Given the description of an element on the screen output the (x, y) to click on. 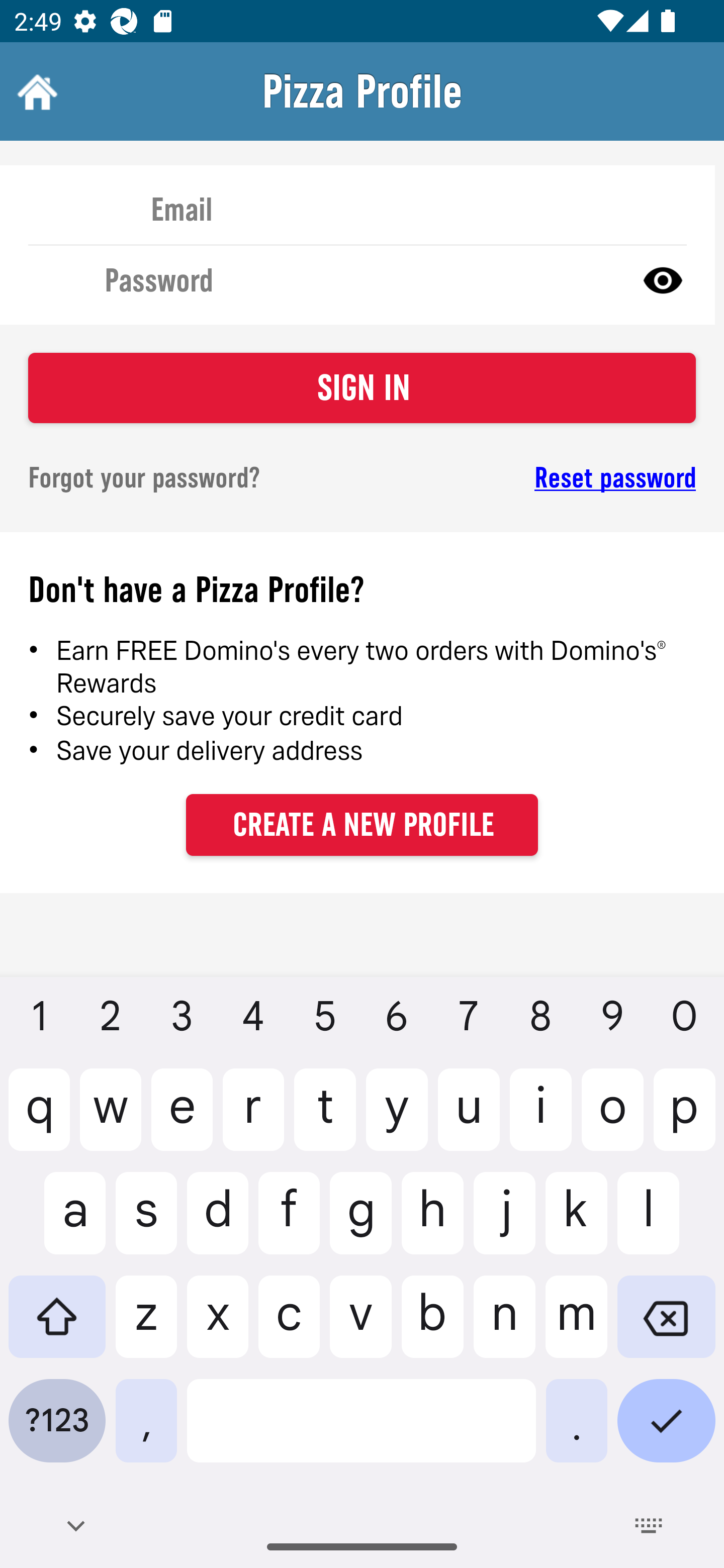
Home (35, 91)
Show Password (663, 279)
SIGN IN (361, 387)
Reset password (545, 477)
CREATE A NEW PROFILE (361, 824)
